Given the description of an element on the screen output the (x, y) to click on. 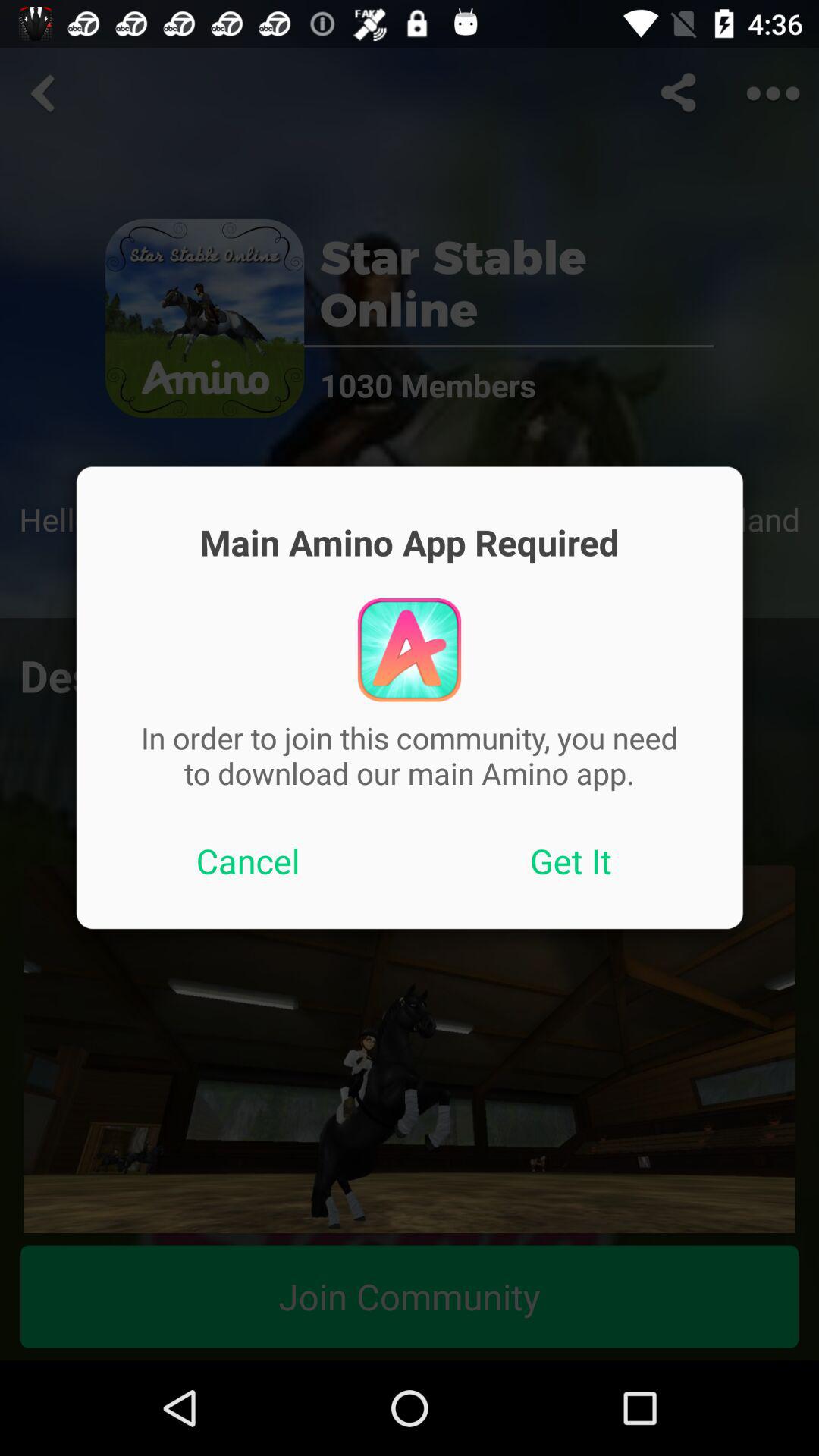
turn on the icon on the left (247, 860)
